Given the description of an element on the screen output the (x, y) to click on. 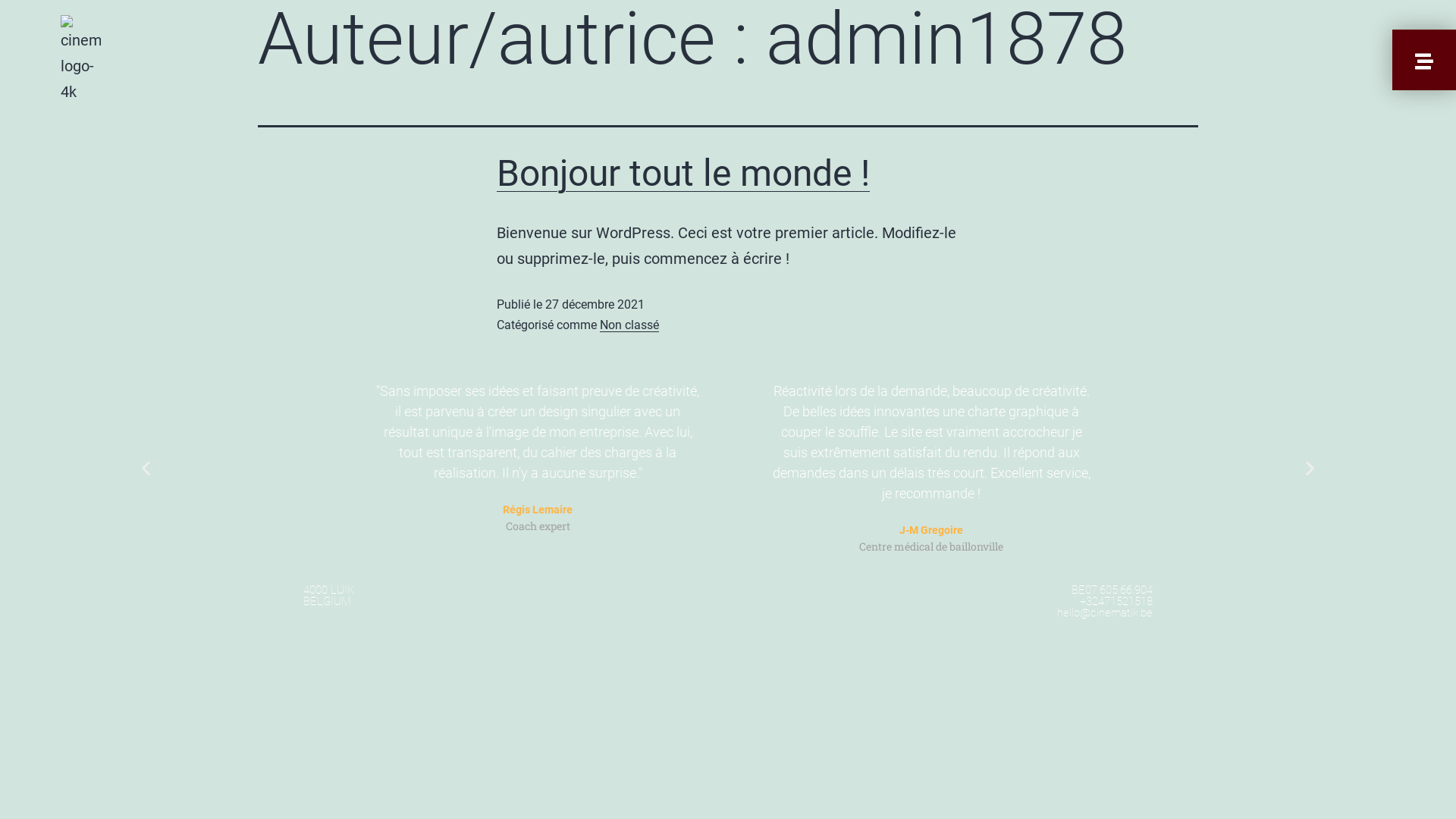
cinematik-logo-4k Element type: hover (80, 59)
Bonjour tout le monde ! Element type: text (682, 172)
